Given the description of an element on the screen output the (x, y) to click on. 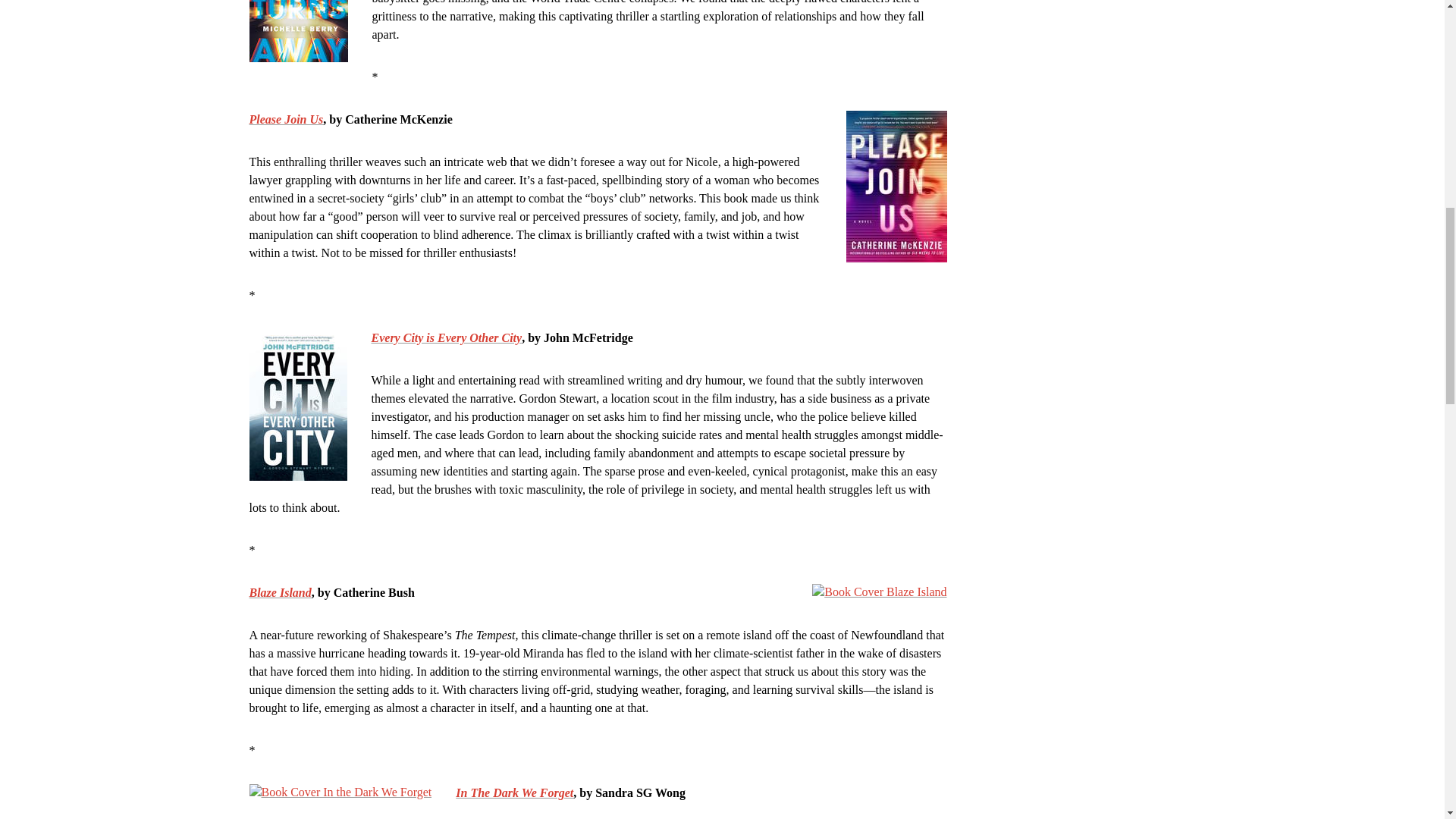
Blaze Island (279, 591)
Please Join Us (285, 118)
In The Dark We Forget (514, 791)
Every City is Every Other City (446, 336)
